Given the description of an element on the screen output the (x, y) to click on. 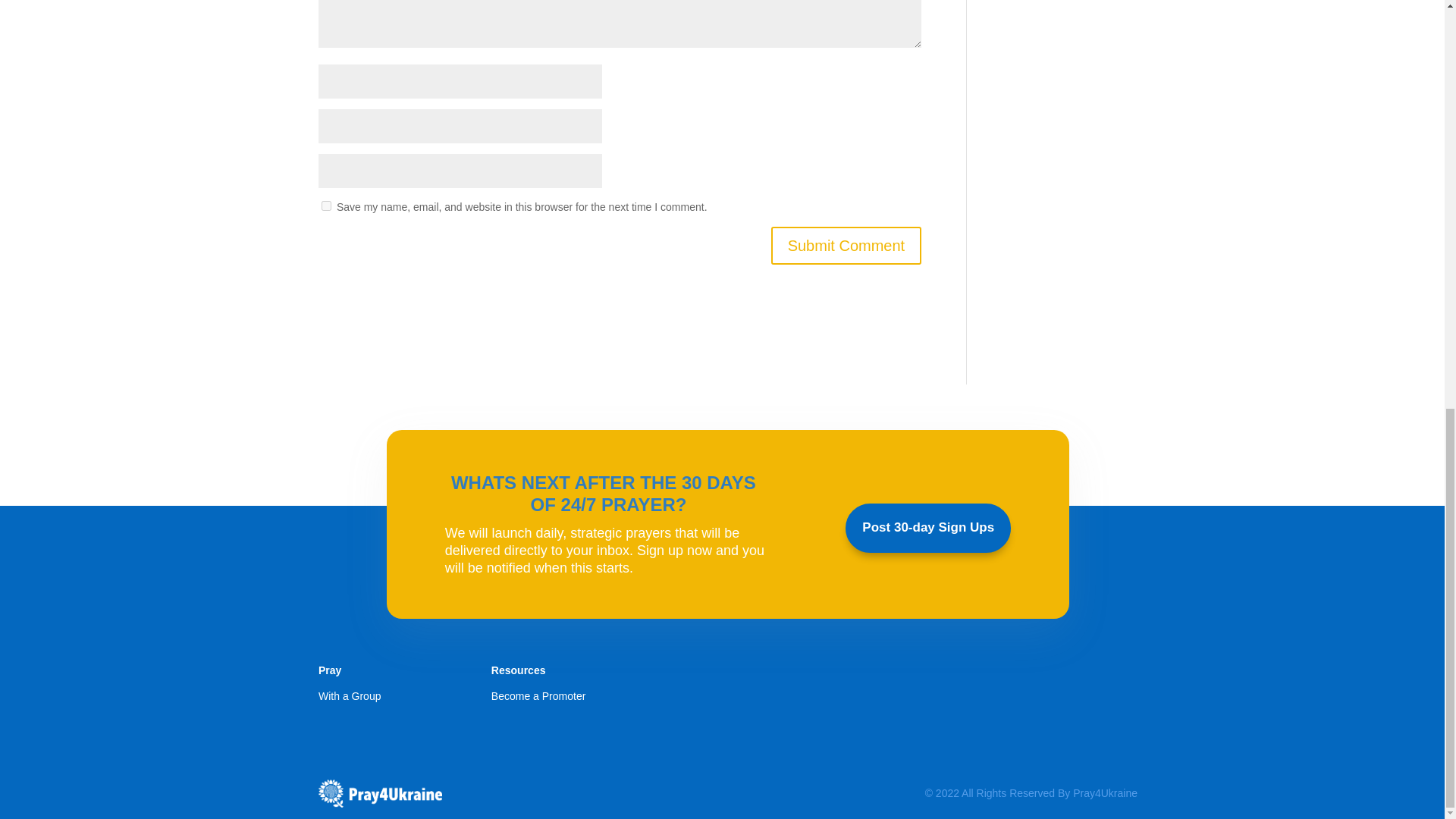
Become a Promoter (539, 695)
Submit Comment (846, 245)
With a Group (349, 695)
yes (326, 205)
Submit Comment (846, 245)
Post 30-day Sign Ups (927, 527)
p4u-logo-wht (380, 793)
